Given the description of an element on the screen output the (x, y) to click on. 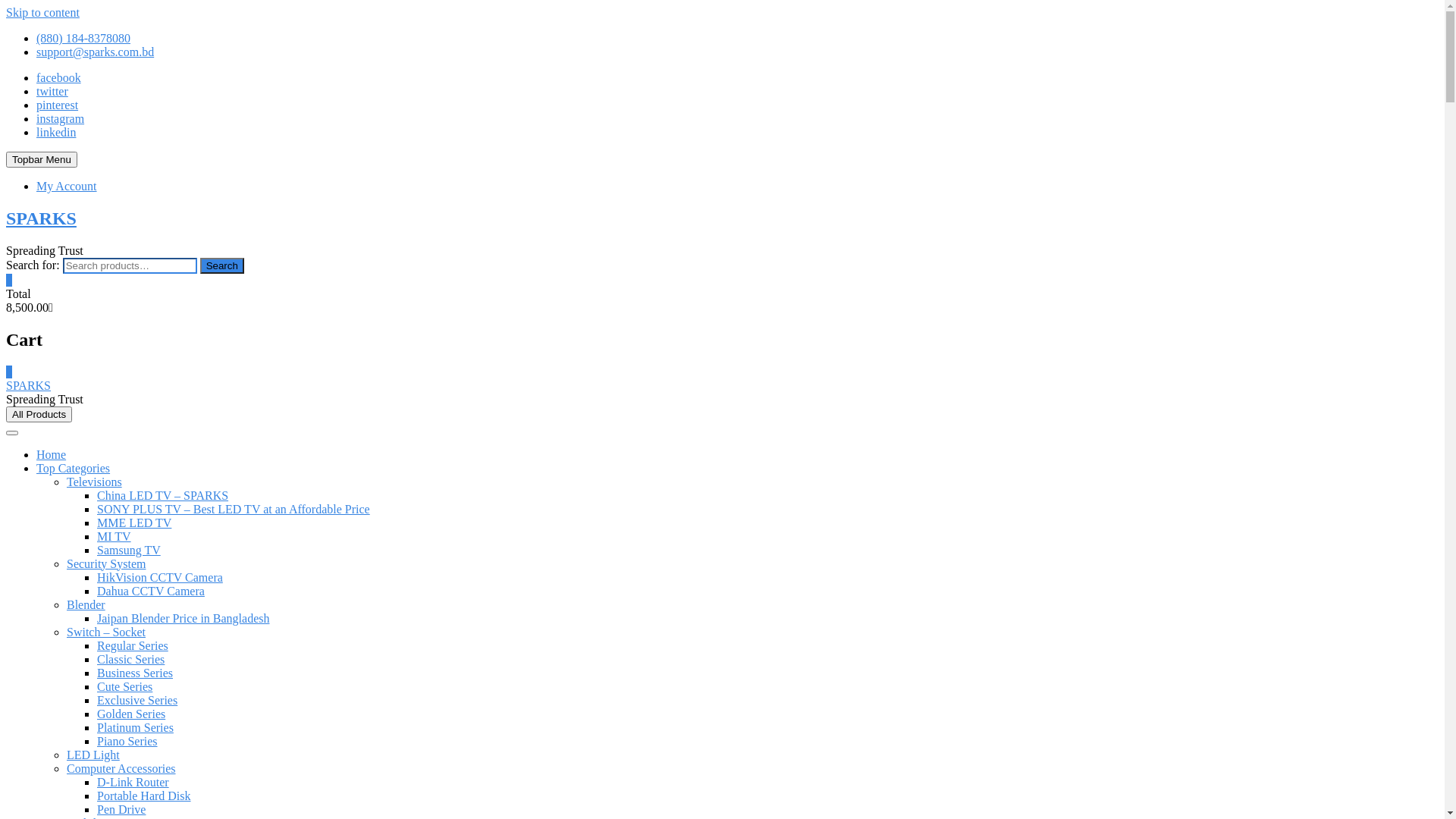
Golden Series Element type: text (131, 713)
Dahua CCTV Camera Element type: text (150, 590)
SPARKS Element type: text (41, 218)
All Products Element type: text (39, 414)
SPARKS Element type: text (28, 385)
Cute Series Element type: text (124, 686)
MI TV Element type: text (114, 536)
Pen Drive Element type: text (121, 809)
MME LED TV Element type: text (134, 522)
Portable Hard Disk Element type: text (144, 795)
Televisions Element type: text (94, 481)
D-Link Router Element type: text (133, 781)
Security System Element type: text (105, 563)
facebook Element type: text (58, 77)
Business Series Element type: text (134, 672)
LED Light Element type: text (92, 754)
0 Element type: text (9, 371)
Regular Series Element type: text (132, 645)
Blender Element type: text (85, 604)
(880) 184-8378080 Element type: text (83, 37)
HikVision CCTV Camera Element type: text (159, 577)
1 Element type: text (9, 279)
Exclusive Series Element type: text (137, 699)
Topbar Menu Element type: text (41, 159)
Home Element type: text (50, 454)
instagram Element type: text (60, 118)
twitter Element type: text (52, 90)
support@sparks.com.bd Element type: text (94, 51)
Search Element type: text (222, 265)
My Account Element type: text (66, 185)
Top Categories Element type: text (72, 467)
Jaipan Blender Price in Bangladesh Element type: text (183, 617)
Skip to content Element type: text (42, 12)
Classic Series Element type: text (130, 658)
pinterest Element type: text (57, 104)
Samsung TV Element type: text (128, 549)
linkedin Element type: text (55, 131)
Platinum Series Element type: text (135, 727)
Computer Accessories Element type: text (120, 768)
Piano Series Element type: text (127, 740)
